Given the description of an element on the screen output the (x, y) to click on. 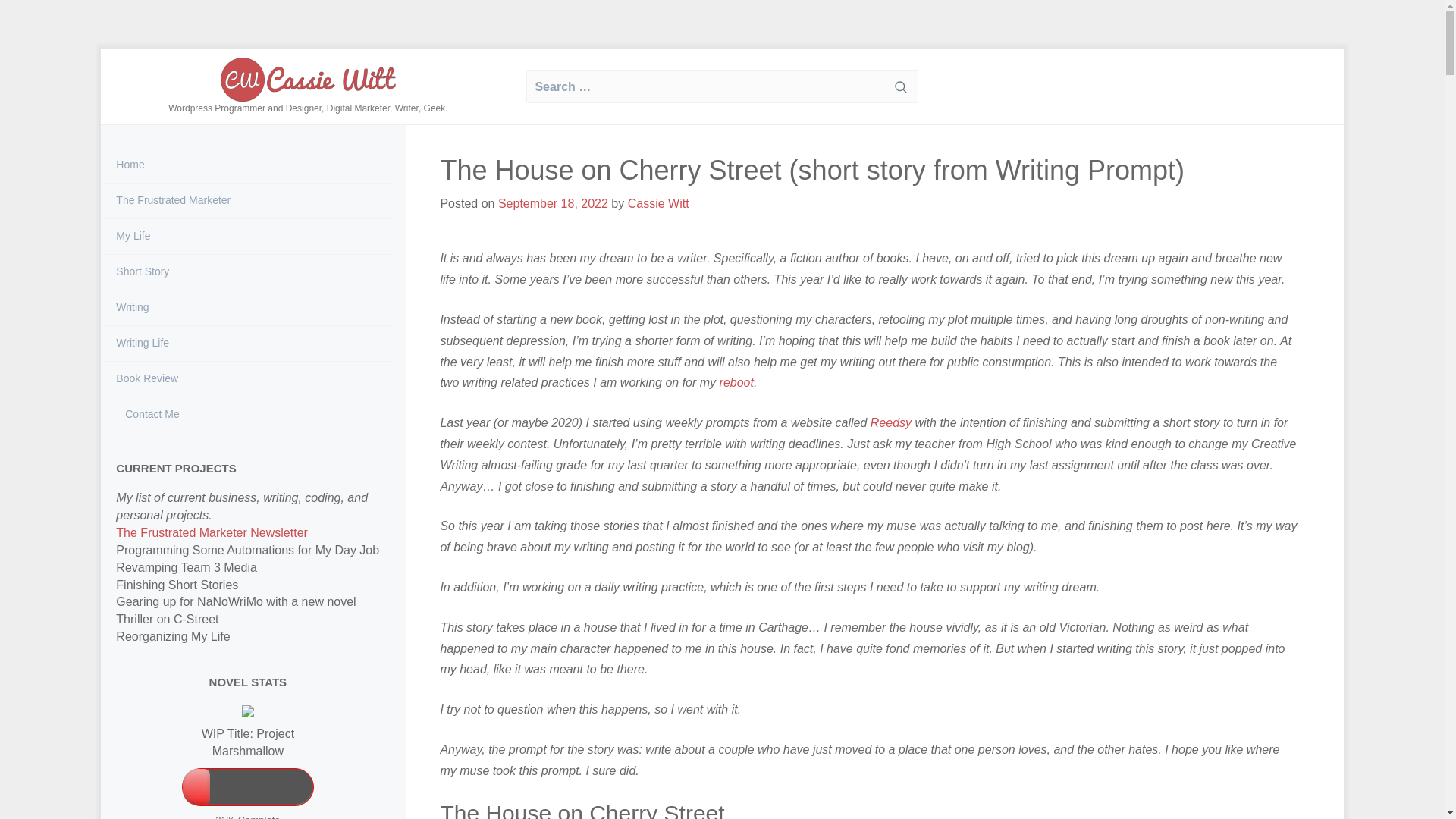
Writing (247, 307)
Home (247, 165)
My Life (247, 236)
Writing (247, 307)
The Frustrated Marketer Newsletter (211, 532)
September 18, 2022 (552, 203)
Search (900, 87)
Contact Me (247, 414)
Search (900, 87)
Writing Life (247, 343)
My Life (247, 236)
Book Review (247, 378)
reboot (736, 382)
Short Story (247, 271)
 Contact Me (247, 414)
